Given the description of an element on the screen output the (x, y) to click on. 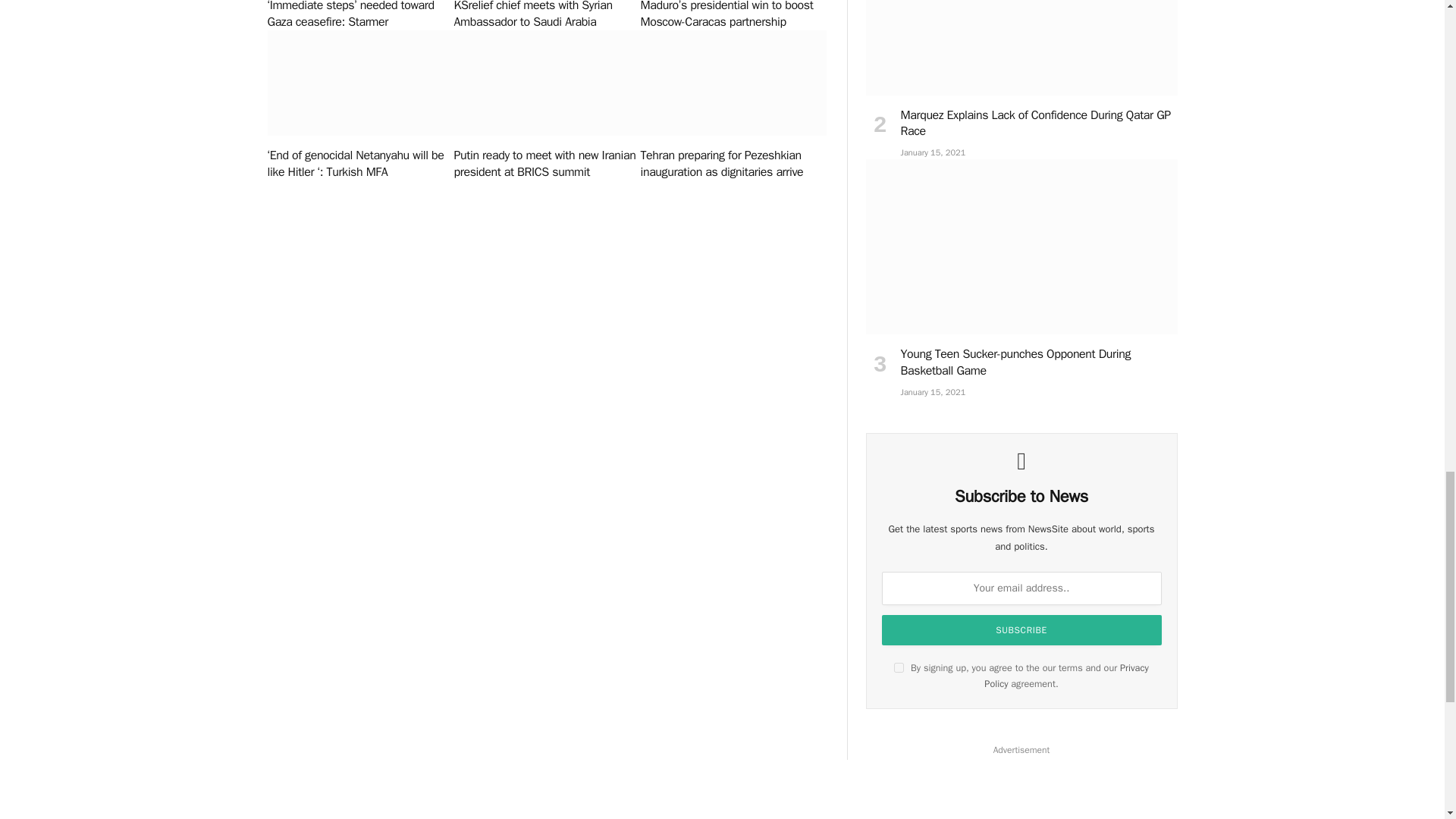
on (898, 667)
Subscribe (1021, 630)
